Given the description of an element on the screen output the (x, y) to click on. 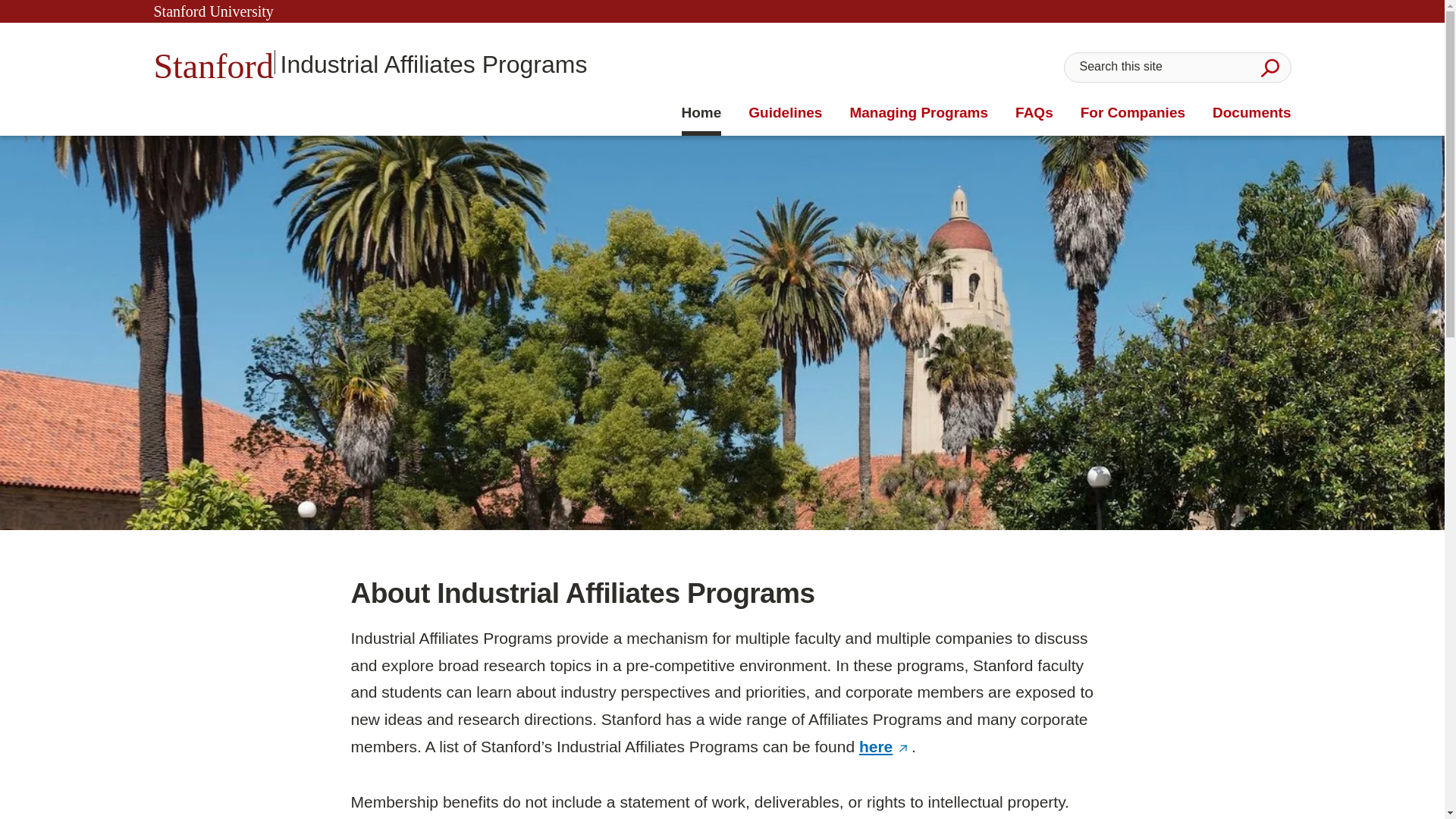
here (885, 746)
Documents (1251, 112)
Submit Search (1269, 67)
Home (369, 61)
Guidelines (700, 112)
For Companies (785, 112)
Managing Programs (1132, 112)
Skip to main content (918, 112)
